Given the description of an element on the screen output the (x, y) to click on. 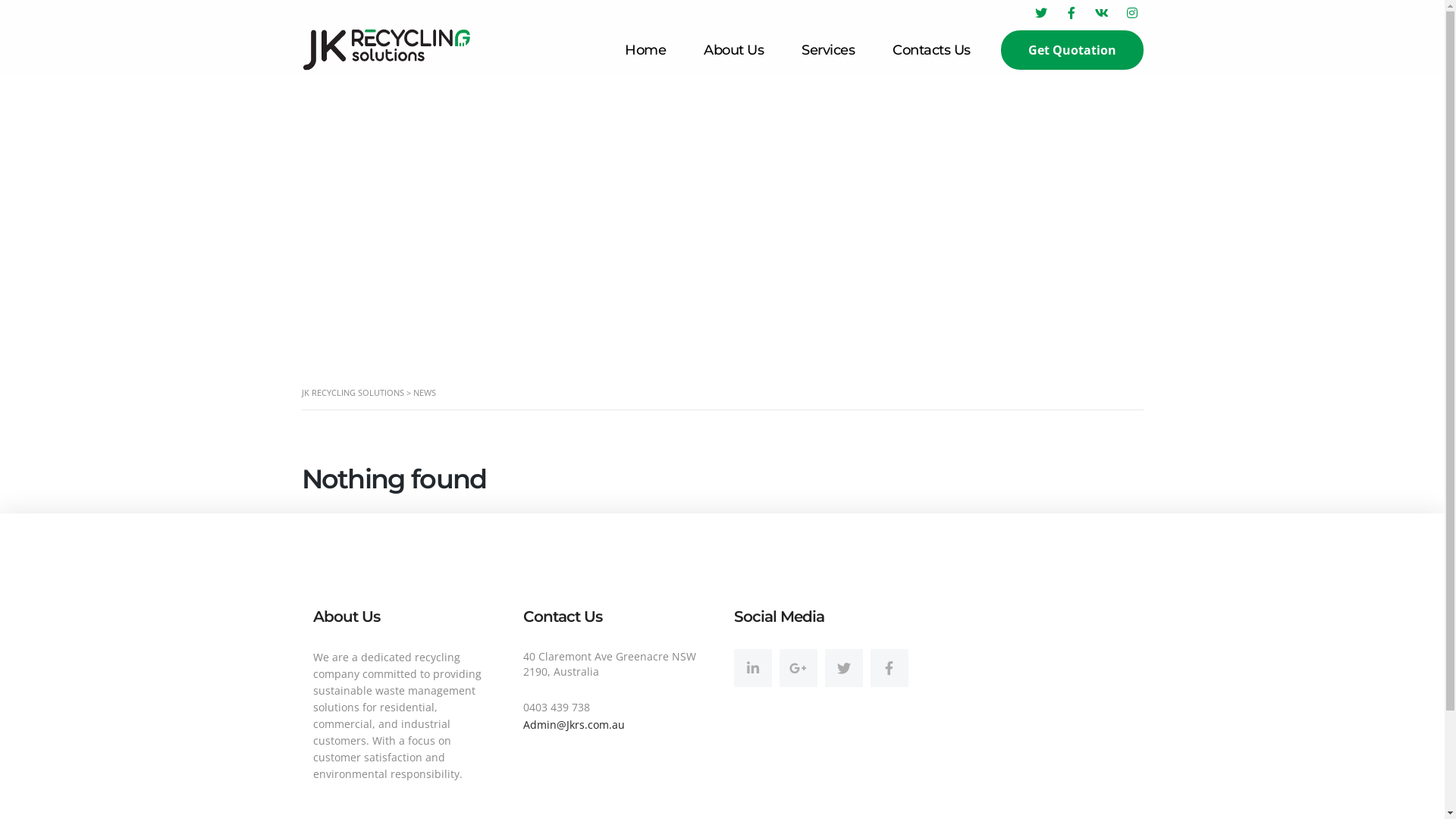
Social item Element type: hover (752, 668)
Social item Element type: hover (889, 668)
About Us Element type: text (733, 50)
Home Element type: text (644, 50)
Contacts Us Element type: text (931, 50)
Get Quotation Element type: text (1072, 49)
Services Element type: text (827, 50)
Social item Element type: hover (798, 668)
Admin@Jkrs.com.au Element type: text (573, 724)
JK RECYCLING SOLUTIONS Element type: text (352, 392)
Social item Element type: hover (843, 668)
